Given the description of an element on the screen output the (x, y) to click on. 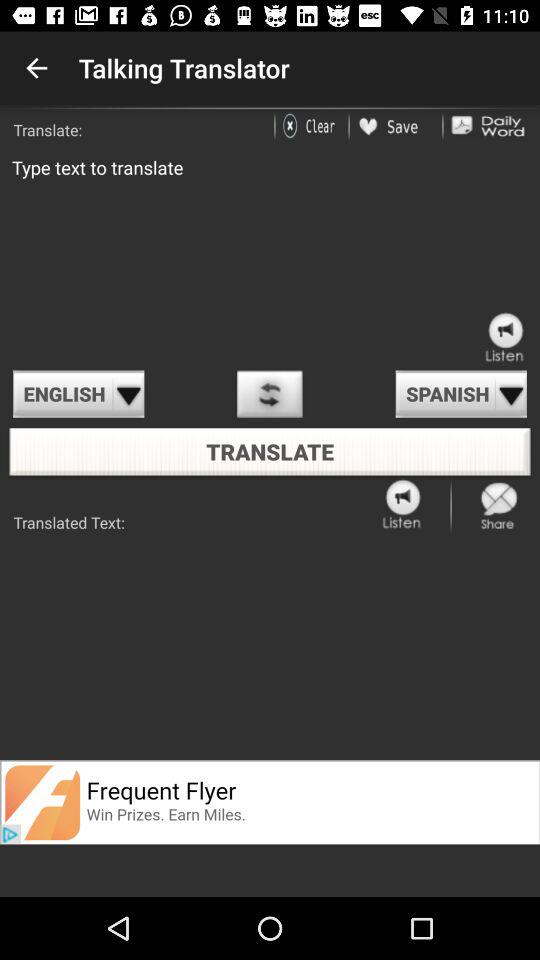
share the page (499, 505)
